Given the description of an element on the screen output the (x, y) to click on. 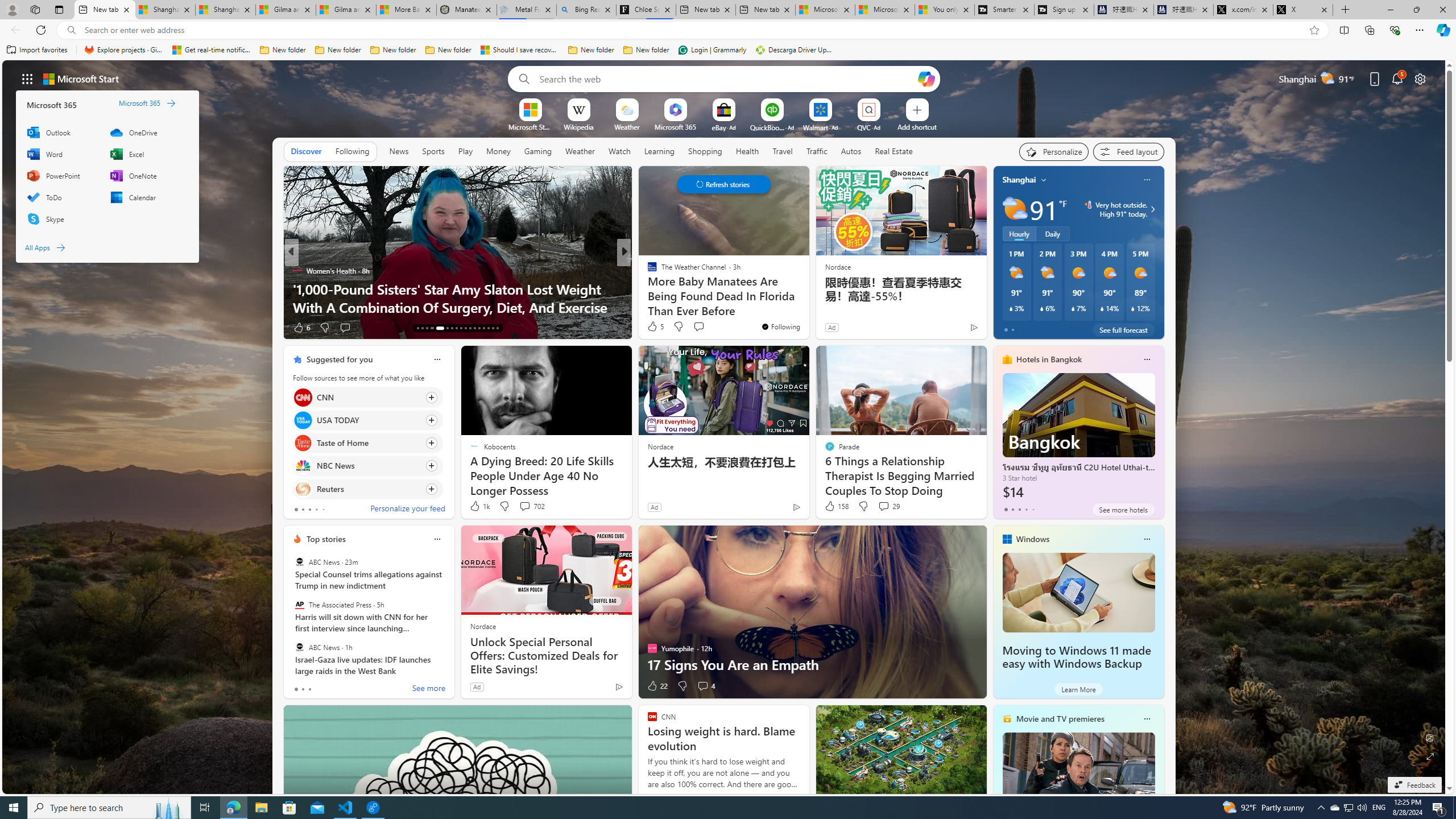
Skype (61, 219)
tab-4 (1032, 509)
146 Like (654, 327)
Click to follow source USA TODAY (367, 419)
See full forecast (1123, 329)
AutomationID: tab-41 (492, 328)
OneNote (145, 175)
AutomationID: tab-20 (456, 328)
View comments 7 Comment (702, 327)
Yumophile (647, 288)
AutomationID: tab-40 (488, 328)
